Given the description of an element on the screen output the (x, y) to click on. 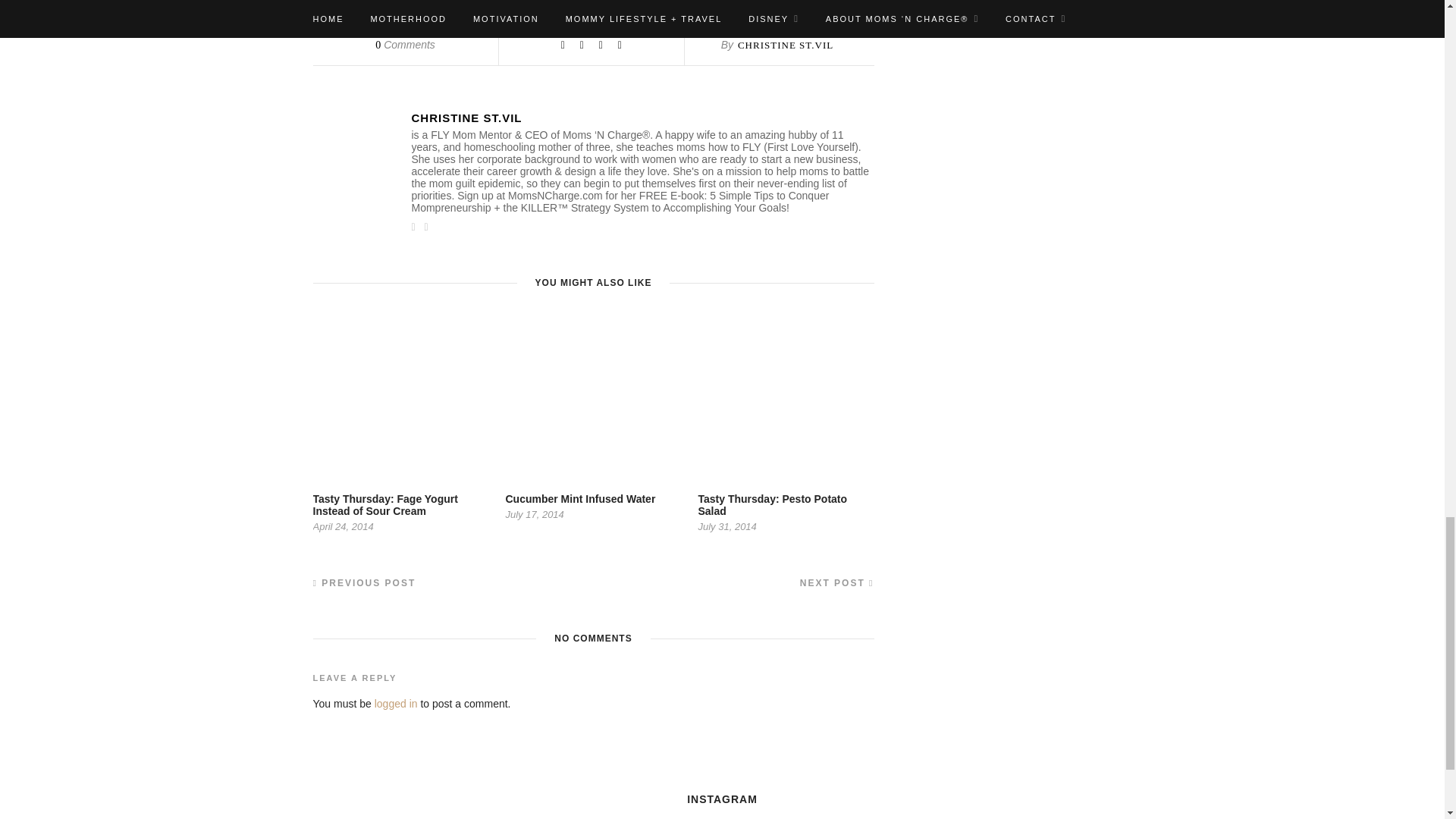
CHRISTINE ST.VIL (641, 117)
NEXT POST (837, 583)
CHRISTINE ST.VIL (785, 44)
Posts by Christine St.Vil (641, 117)
Tasty Thursday: Pesto Potato Salad (772, 504)
Cucumber Mint Infused Water (580, 499)
0 Comments (405, 44)
Tasty Thursday: Fage Yogurt Instead of Sour Cream (385, 504)
PREVIOUS POST (363, 583)
Posts by Christine St.Vil (785, 44)
